Given the description of an element on the screen output the (x, y) to click on. 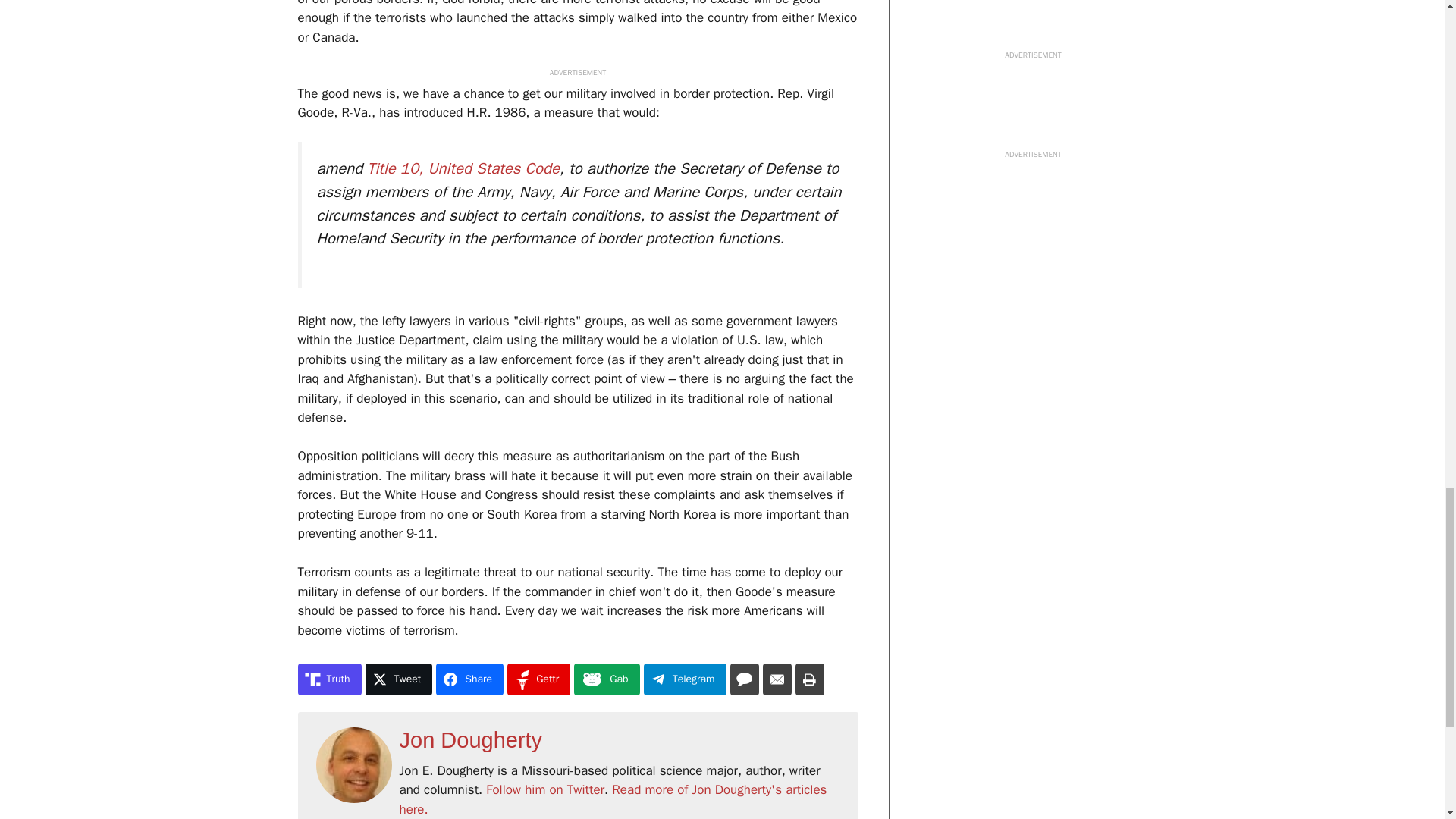
Share on Tweet (398, 679)
Share on Share (469, 679)
Share on Gettr (538, 679)
Share on Gab (606, 679)
Share on Truth (329, 679)
